Given the description of an element on the screen output the (x, y) to click on. 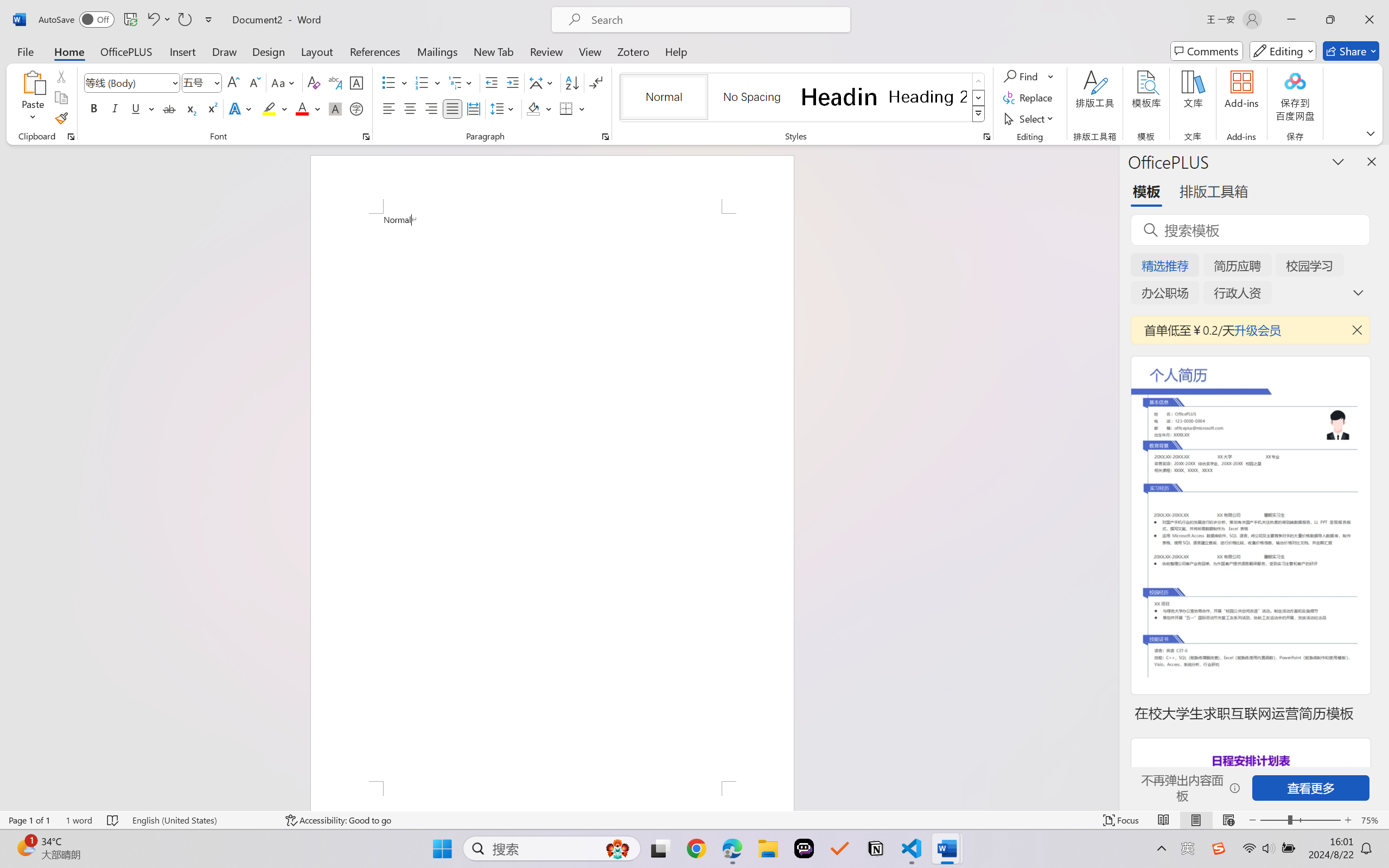
Format Painter (60, 118)
Undo Apply Quick Style (158, 19)
Distributed (473, 108)
Row up (978, 81)
Page Number Page 1 of 1 (29, 819)
Sort... (571, 82)
Subscript (190, 108)
Select (1030, 118)
Review (546, 51)
Underline (142, 108)
Line and Paragraph Spacing (503, 108)
